Given the description of an element on the screen output the (x, y) to click on. 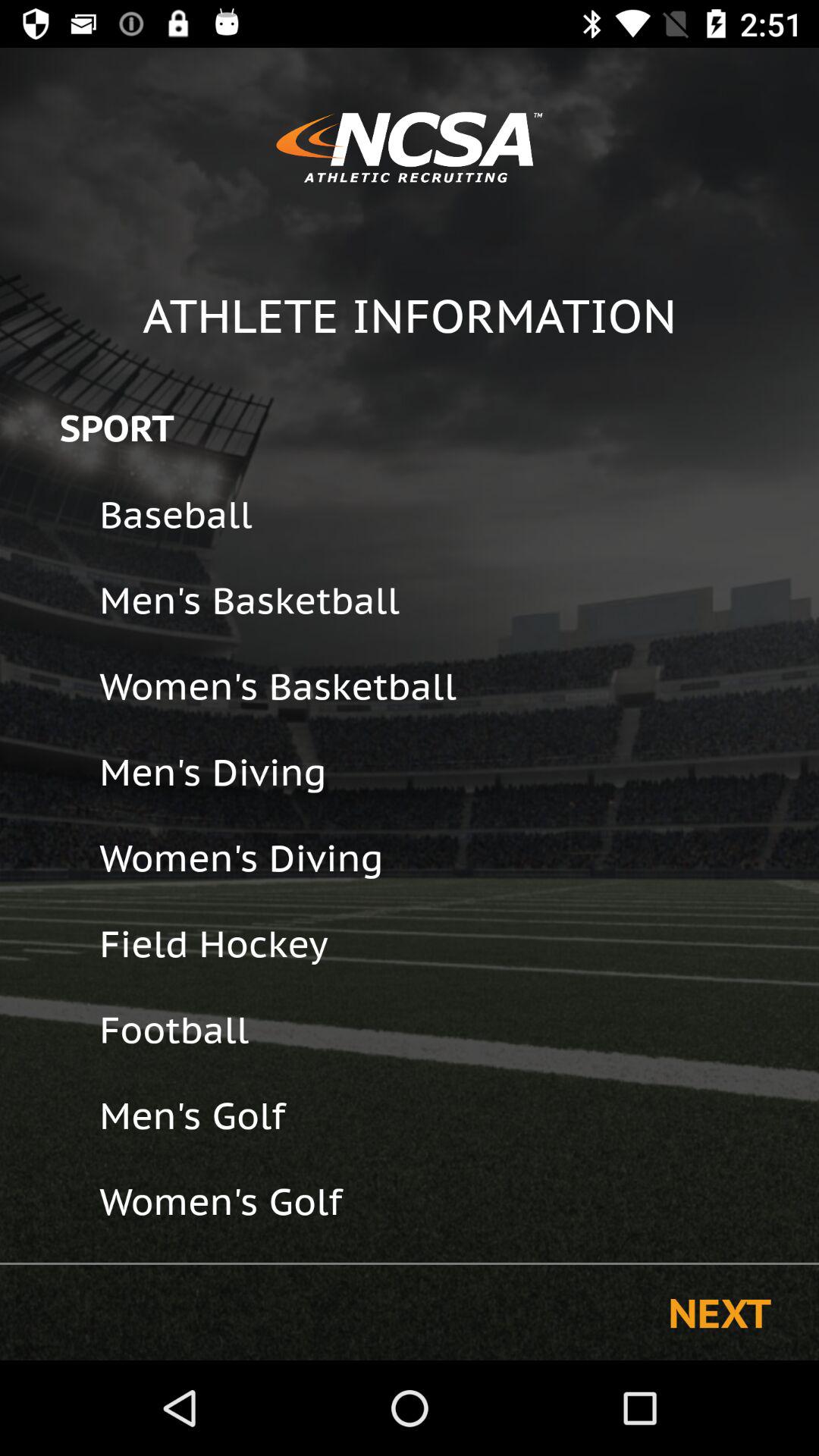
choose the football icon (449, 1029)
